Given the description of an element on the screen output the (x, y) to click on. 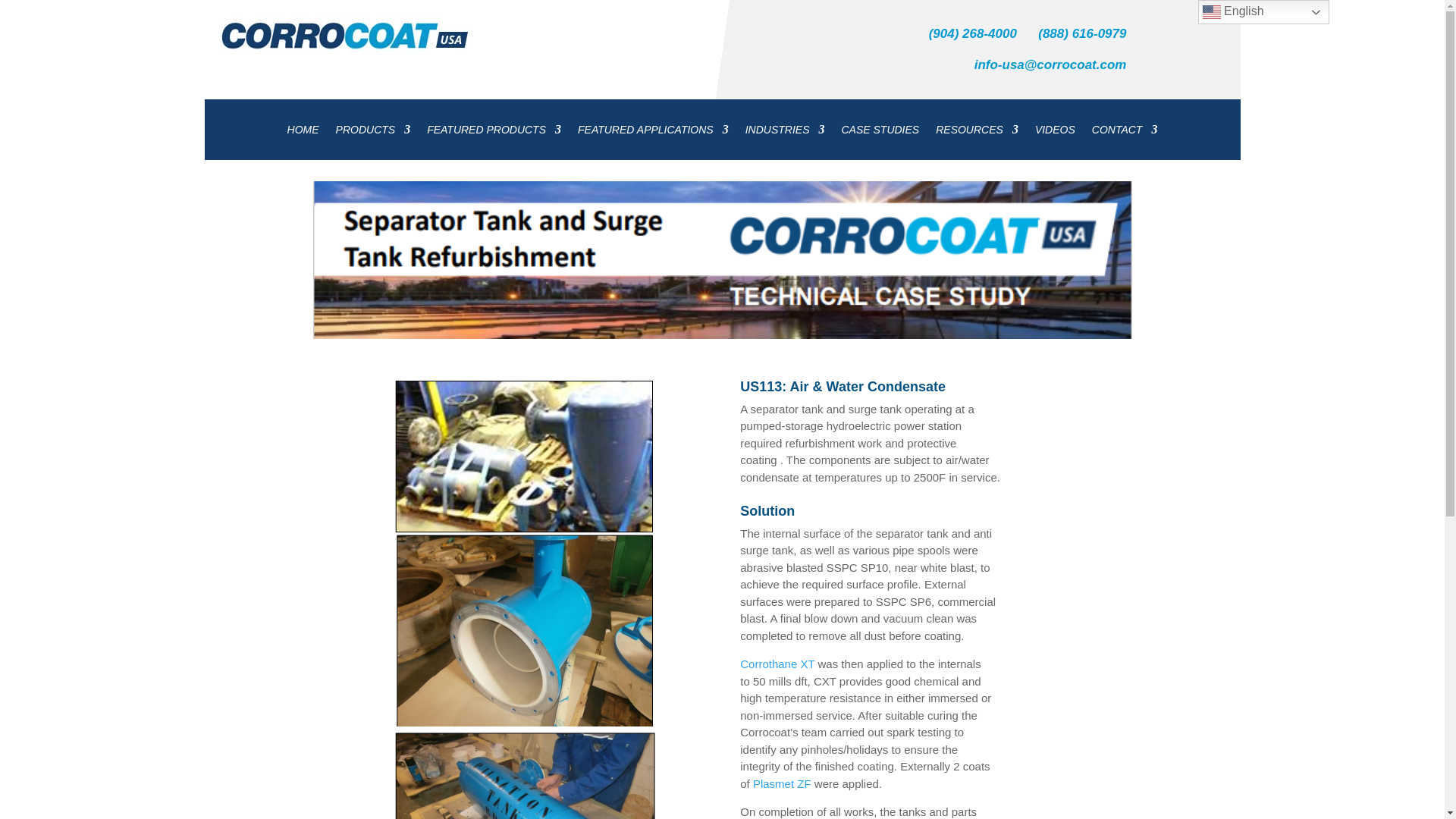
PRODUCTS (373, 132)
RESOURCES (976, 132)
FEATURED PRODUCTS (493, 132)
CASE STUDIES (879, 132)
CONTACT (1124, 132)
logo (343, 34)
HOME (302, 132)
INDUSTRIES (785, 132)
Corrothane XT (776, 663)
FEATURED APPLICATIONS (653, 132)
VIDEOS (1055, 132)
Plasmet ZF (781, 783)
